Given the description of an element on the screen output the (x, y) to click on. 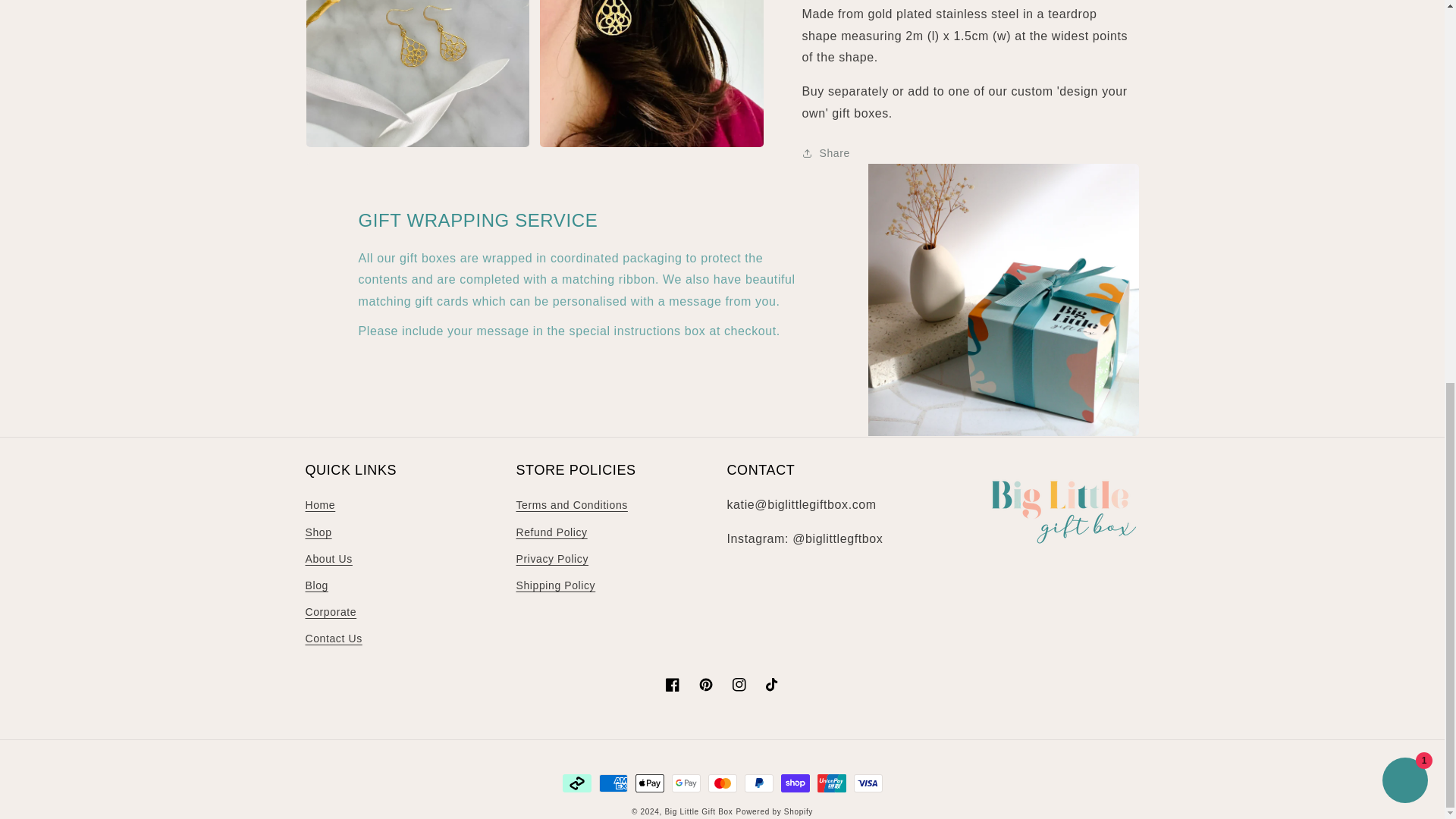
Shopify online store chat (1404, 65)
